Given the description of an element on the screen output the (x, y) to click on. 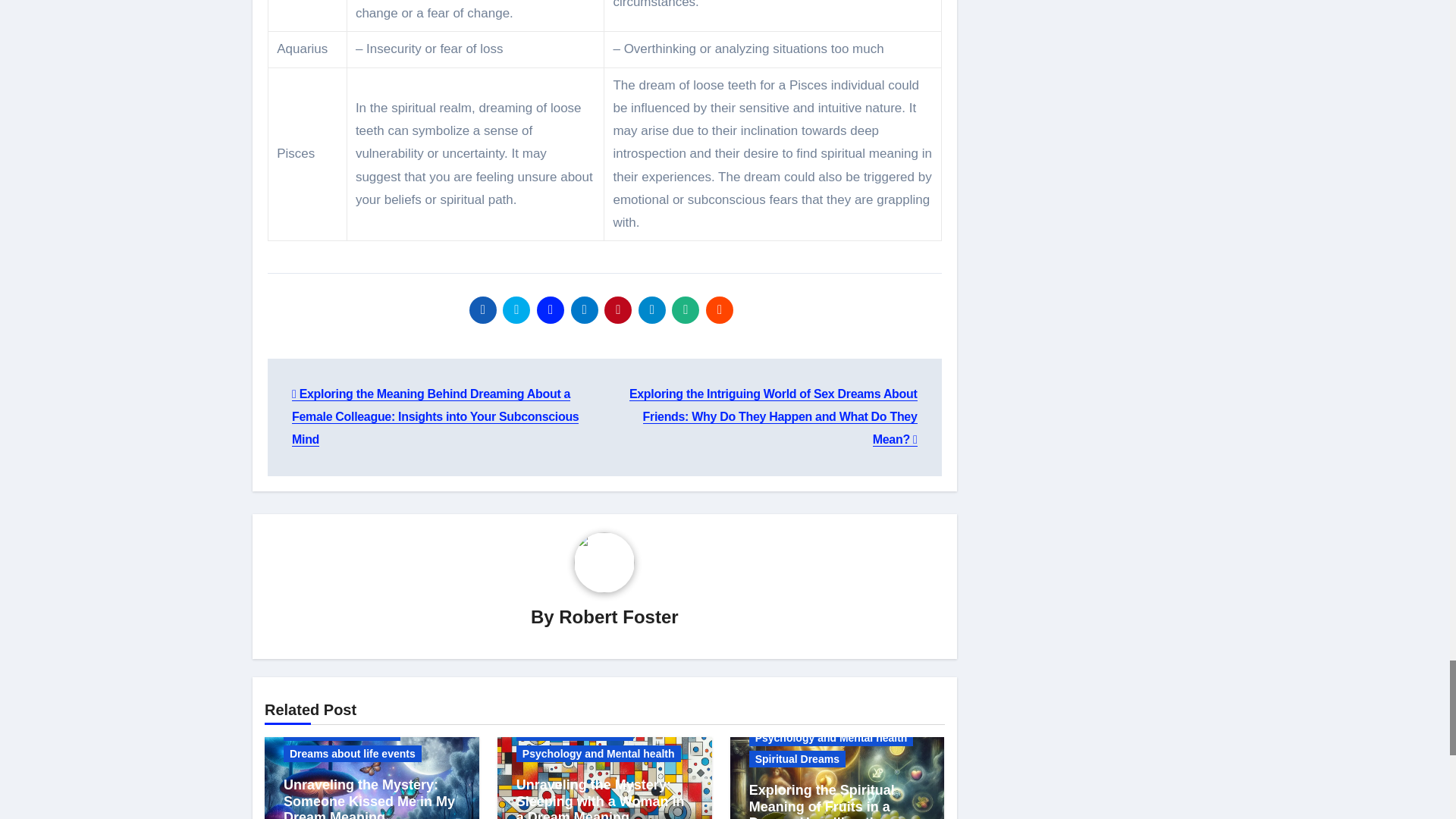
Robert Foster (618, 616)
Dreams about health (341, 732)
Dreams about life events (352, 753)
